Given the description of an element on the screen output the (x, y) to click on. 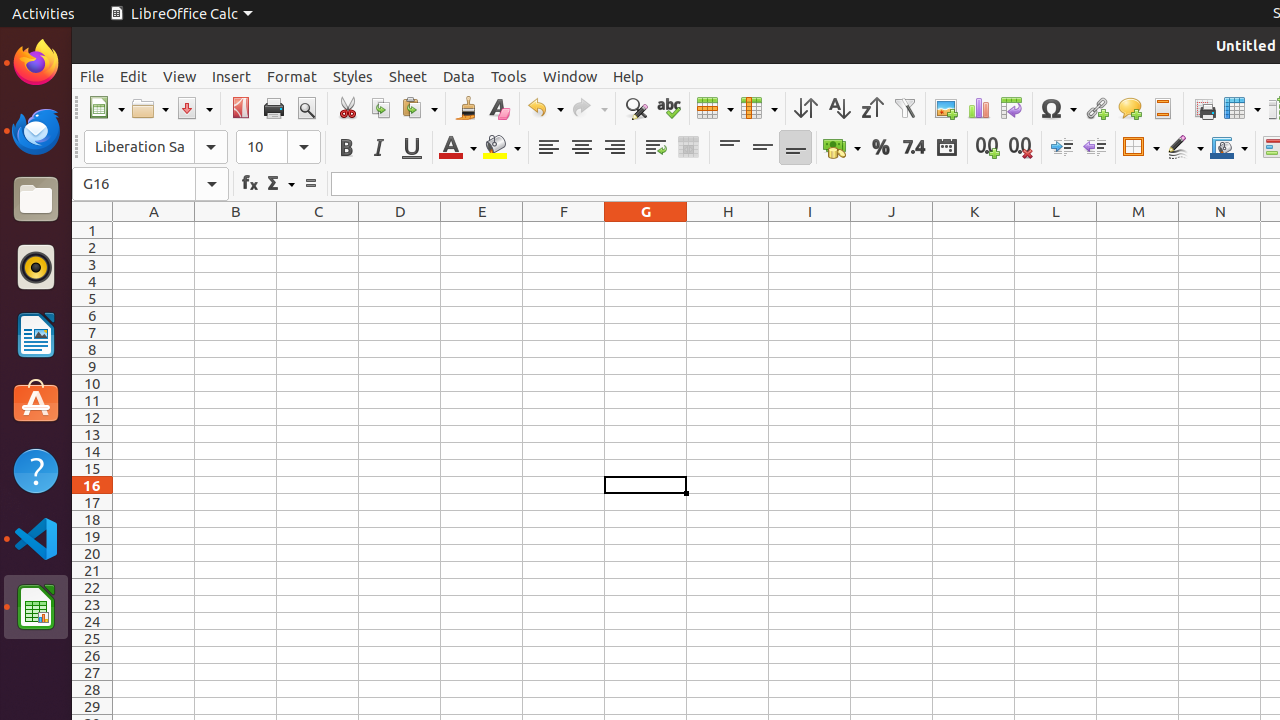
Currency Element type: push-button (842, 147)
Merge and Center Cells Element type: push-button (688, 147)
N1 Element type: table-cell (1220, 230)
Clear Element type: push-button (498, 108)
A1 Element type: table-cell (154, 230)
